Given the description of an element on the screen output the (x, y) to click on. 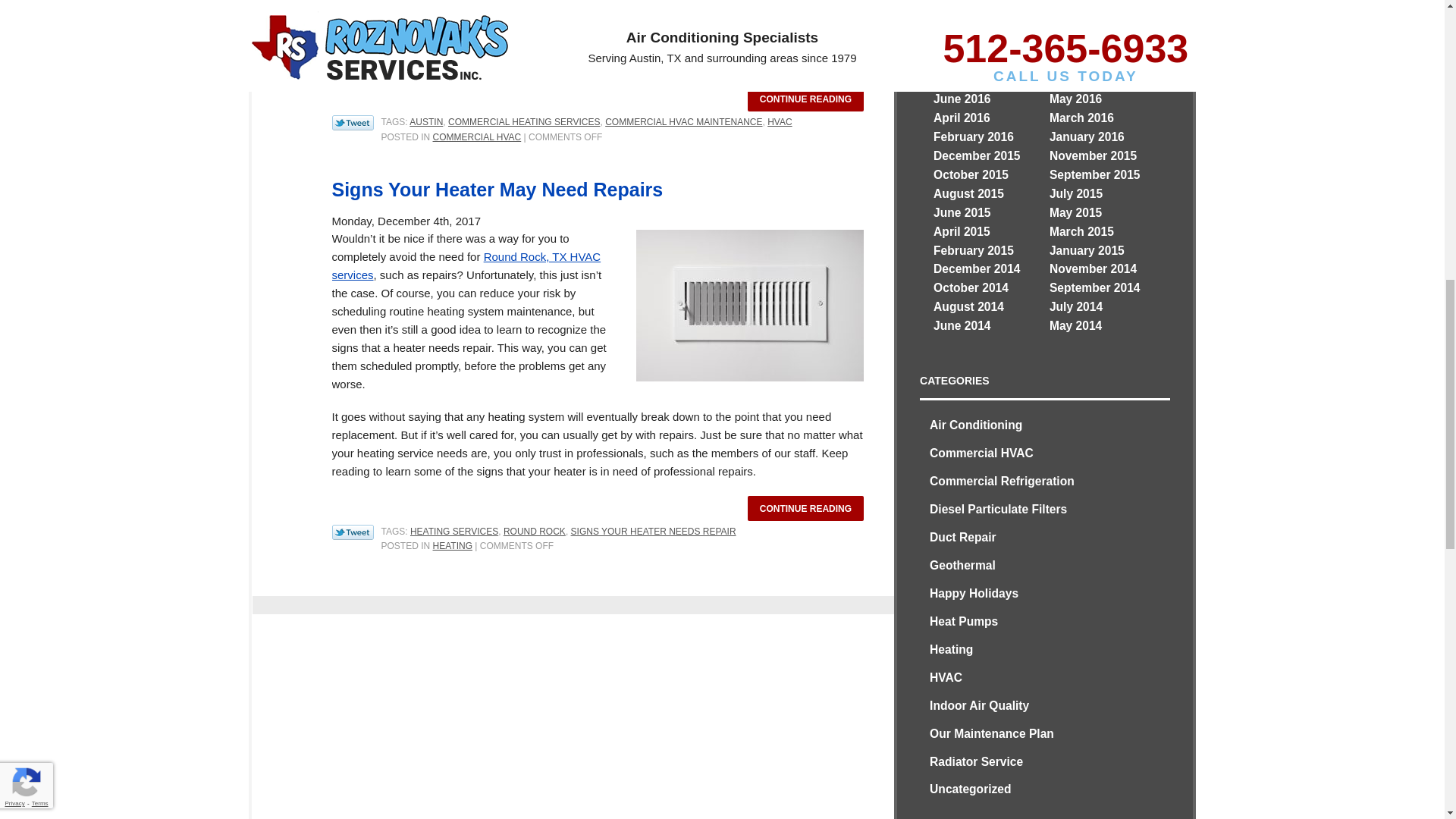
Permanent Link to Signs Your Heater May Need Repairs (497, 189)
Permanent Link to Signs Your Heater May Need Repairs (805, 508)
